Given the description of an element on the screen output the (x, y) to click on. 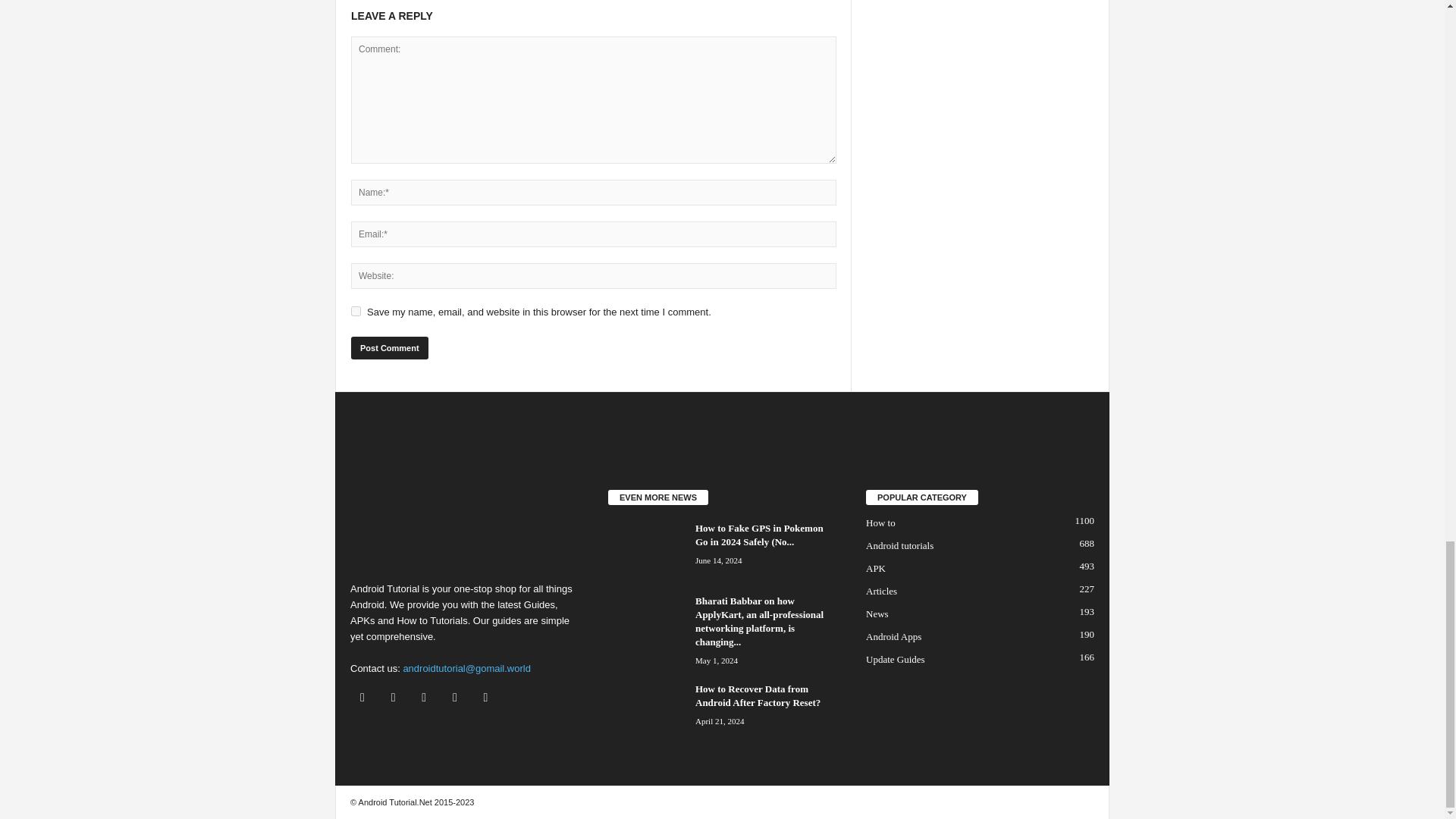
Post Comment (389, 347)
yes (355, 311)
